Given the description of an element on the screen output the (x, y) to click on. 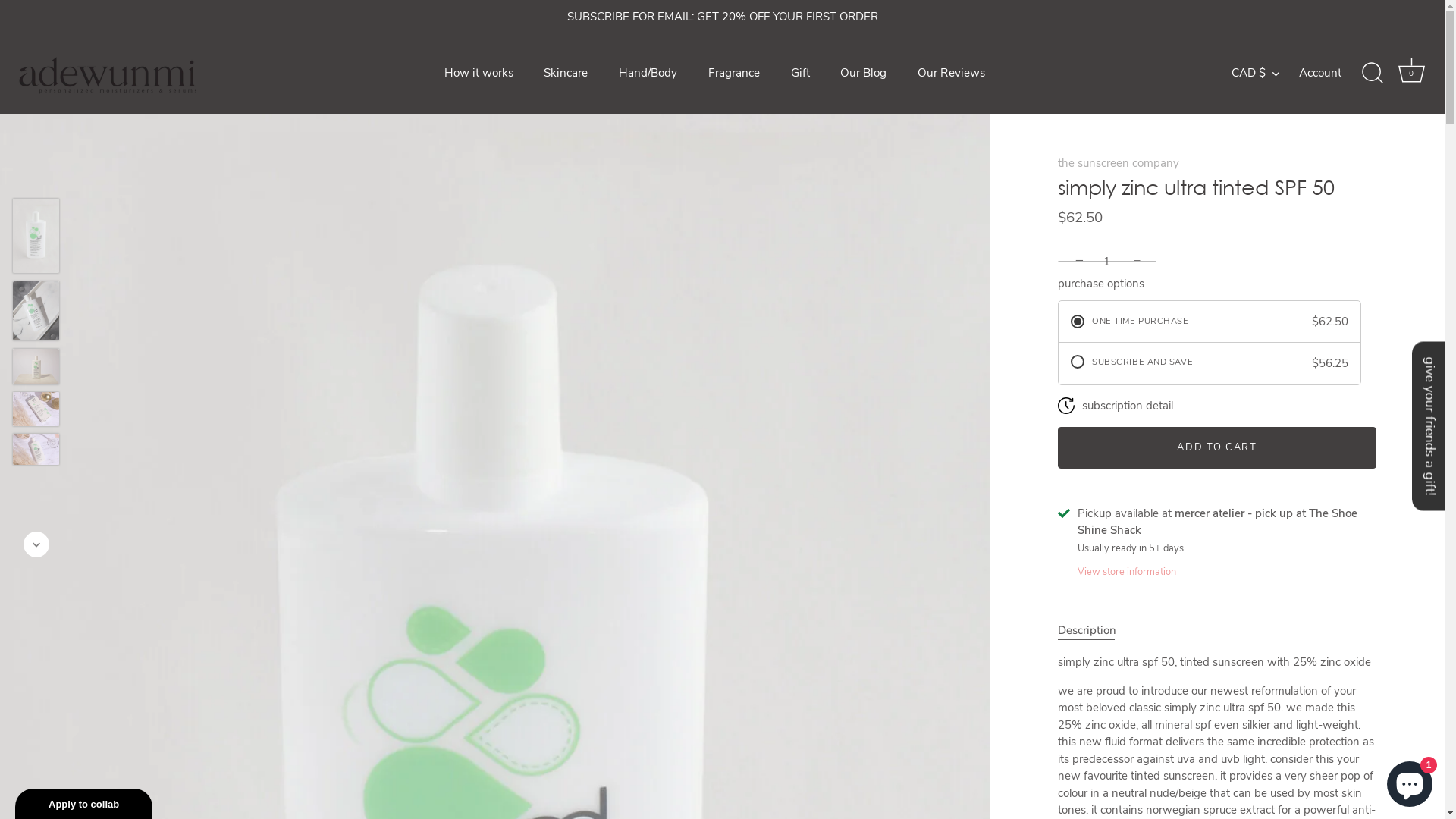
Cart
0 Element type: text (1410, 72)
Skincare Element type: text (566, 73)
+ Element type: text (1138, 260)
How it works Element type: text (478, 73)
View store information Element type: text (1126, 570)
Our Reviews Element type: text (951, 73)
Shopify online store chat Element type: hover (1409, 780)
Description Element type: text (1086, 629)
ADD TO CART Element type: text (1216, 446)
Gift Element type: text (799, 73)
Our Blog Element type: text (863, 73)
Account Element type: text (1333, 72)
Hand/Body Element type: text (648, 73)
the sunscreen company Element type: text (1118, 161)
CAD $ Element type: text (1263, 72)
Fragrance Element type: text (734, 73)
